Given the description of an element on the screen output the (x, y) to click on. 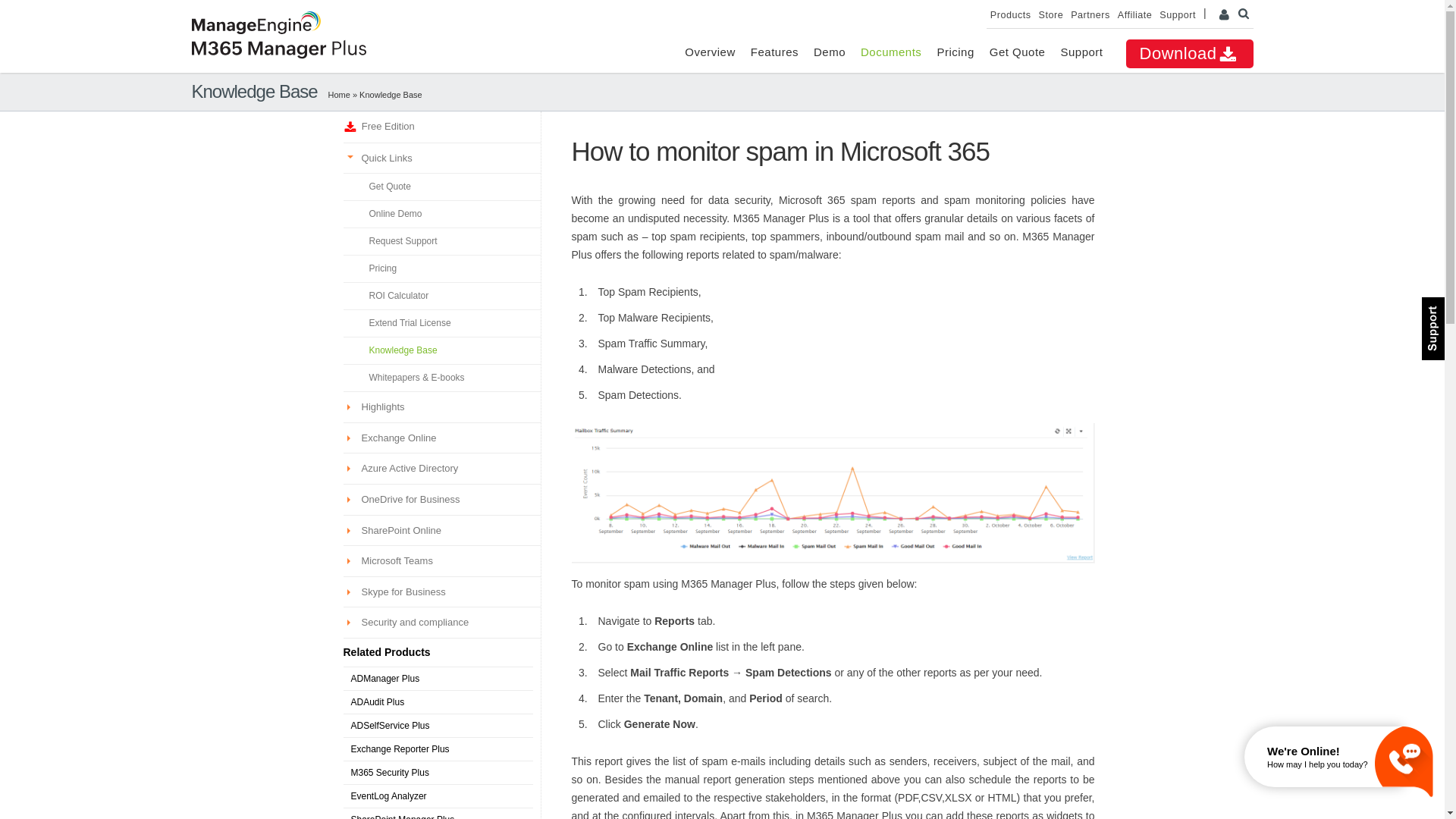
Overview (709, 51)
Free Edition (441, 126)
Documents (890, 51)
ManageEngine M365 Manager Plus (277, 48)
Online Demo (441, 213)
Demo (829, 51)
Support (1080, 51)
Extend Trial License (441, 322)
Get Quote (1017, 51)
ROI Calculator (441, 295)
Request Support (441, 240)
Pricing (441, 267)
Download ManageEngine M365 Manager Plus (1188, 53)
Pricing (955, 51)
Get Quote (441, 185)
